Given the description of an element on the screen output the (x, y) to click on. 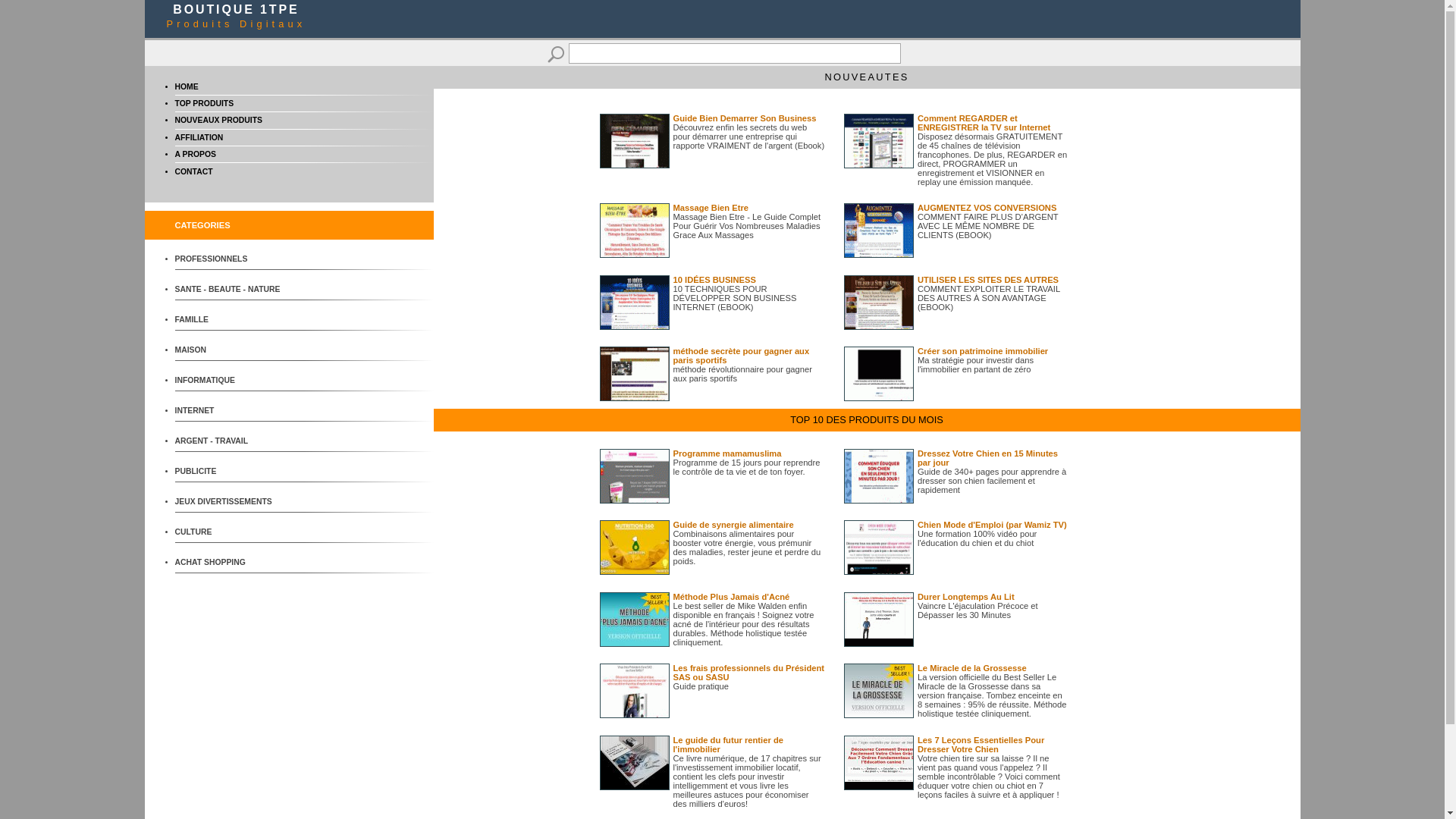
Programme mamamuslima Element type: text (727, 453)
UTILISER LES SITES DES AUTRES Element type: text (987, 279)
TOP PRODUITS Element type: text (203, 103)
Chien Mode d'Emploi (par Wamiz TV) Element type: text (991, 524)
AUGMENTEZ VOS CONVERSIONS Element type: text (986, 207)
NOUVEAUX PRODUITS Element type: text (217, 120)
CULTURE Element type: text (231, 531)
PROFESSIONNELS Element type: text (231, 258)
Guide de synergie alimentaire Element type: text (733, 524)
FAMILLE Element type: text (231, 319)
MAISON Element type: text (231, 349)
Massage Bien Etre Element type: text (711, 207)
SANTE - BEAUTE - NATURE Element type: text (231, 289)
A PROPOS Element type: text (194, 154)
Le Miracle de la Grossesse Element type: text (971, 667)
CONTACT Element type: text (193, 171)
HOME Element type: text (185, 86)
INFORMATIQUE Element type: text (231, 380)
Guide pratique Element type: text (700, 685)
ACHAT SHOPPING Element type: text (231, 562)
Le guide du futur rentier de l'immobilier Element type: text (728, 744)
INTERNET Element type: text (231, 410)
JEUX DIVERTISSEMENTS Element type: text (231, 501)
Dressez Votre Chien en 15 Minutes par jour Element type: text (987, 457)
AFFILIATION Element type: text (198, 137)
ARGENT - TRAVAIL Element type: text (231, 440)
Durer Longtemps Au Lit Element type: text (965, 596)
Guide Bien Demarrer Son Business Element type: text (744, 117)
PUBLICITE Element type: text (231, 471)
Comment REGARDER et ENREGISTRER la TV sur Internet Element type: text (983, 122)
